Given the description of an element on the screen output the (x, y) to click on. 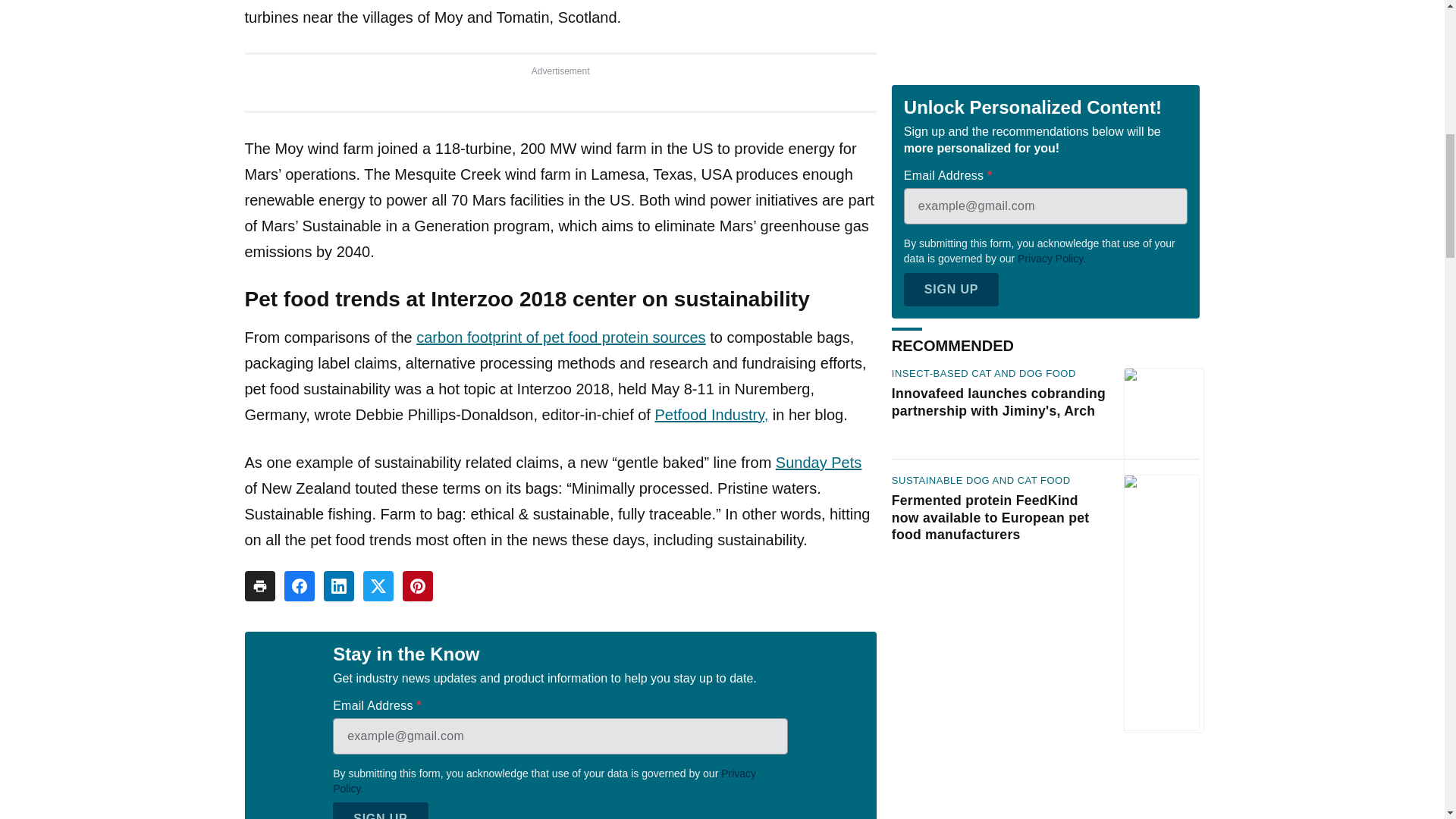
Share To linkedin (338, 585)
Share To twitter (377, 585)
Share To print (259, 585)
Sustainable Dog and Cat Food (980, 196)
Share To pinterest (416, 585)
Insect-based Cat and Dog Food (983, 89)
Share To facebook (298, 585)
